Given the description of an element on the screen output the (x, y) to click on. 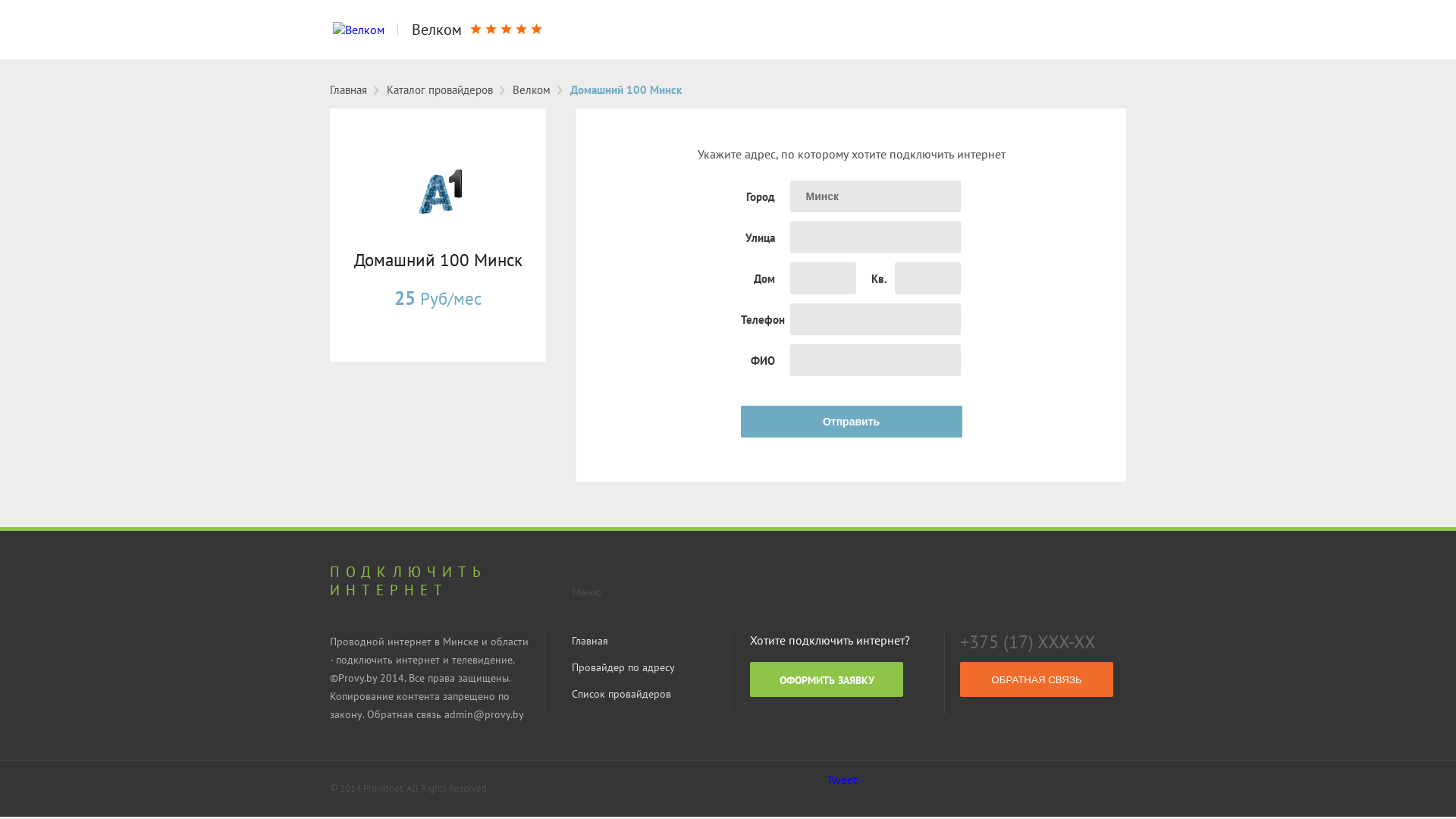
Tweet Element type: text (841, 779)
